Given the description of an element on the screen output the (x, y) to click on. 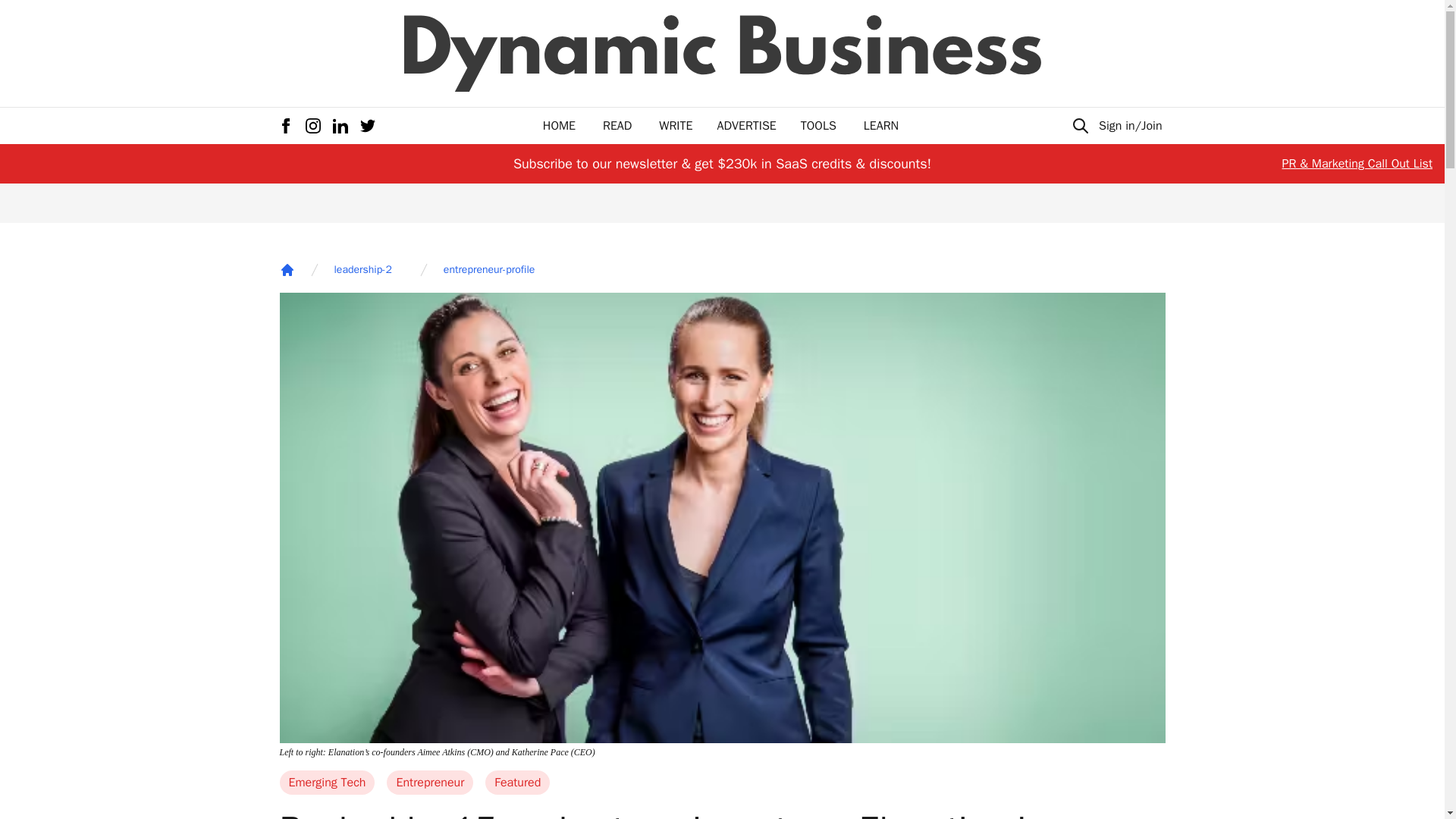
LEARN (880, 126)
entrepreneur-profile (489, 269)
HOME (559, 126)
Featured (517, 782)
Entrepreneur (430, 782)
TOOLS (817, 126)
READ (616, 126)
leadership-2 (362, 269)
ADVERTISE (746, 126)
WRITE (676, 126)
